Given the description of an element on the screen output the (x, y) to click on. 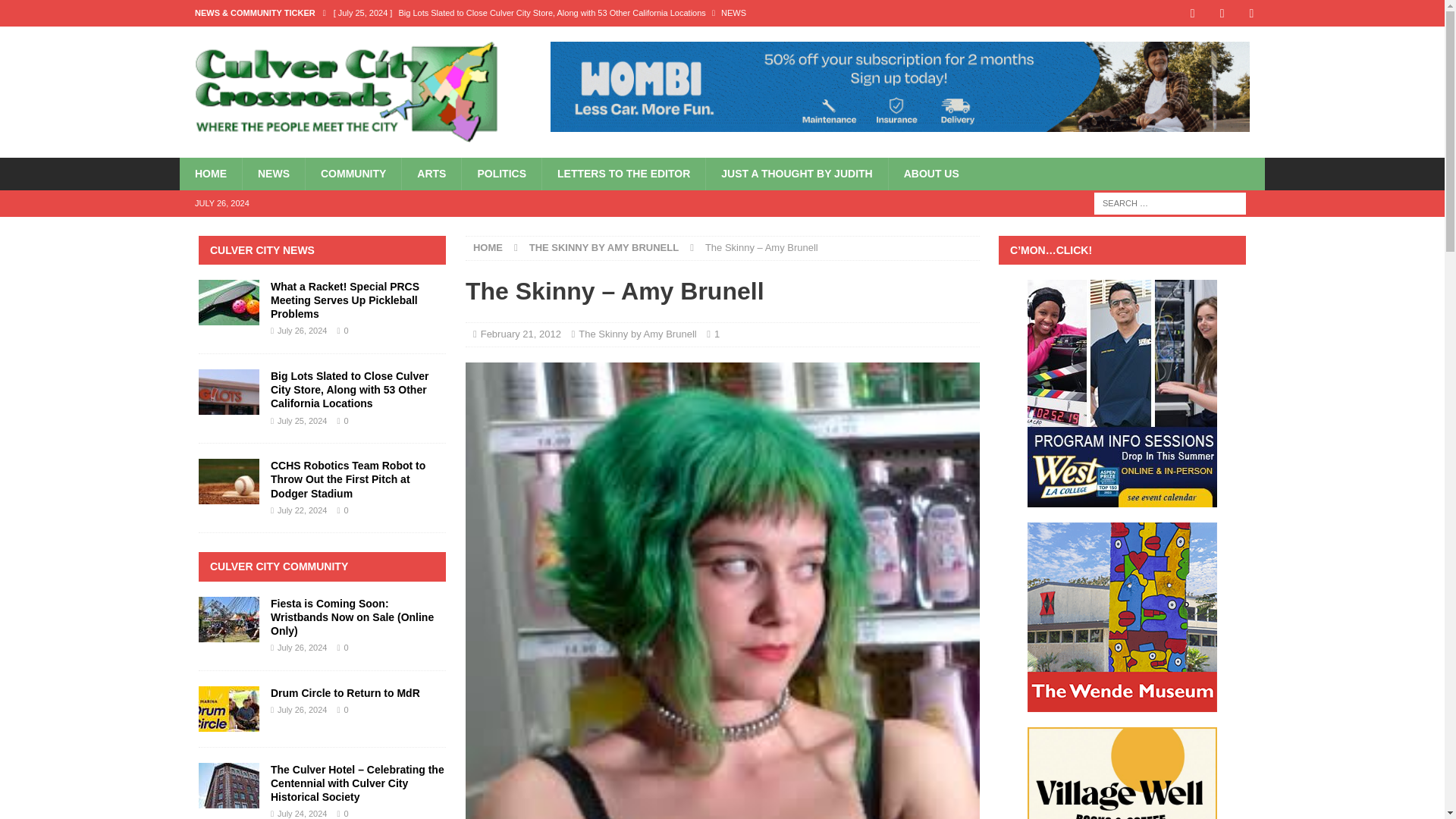
ARTS (431, 173)
The Skinny by Amy Brunell (636, 333)
COMMUNITY (352, 173)
JUST A THOUGHT BY JUDITH (795, 173)
ABOUT US (931, 173)
NEWS (272, 173)
February 21, 2012 (520, 333)
HOME (210, 173)
Search (56, 11)
POLITICS (501, 173)
LETTERS TO THE EDITOR (622, 173)
THE SKINNY BY AMY BRUNELL (603, 247)
